Given the description of an element on the screen output the (x, y) to click on. 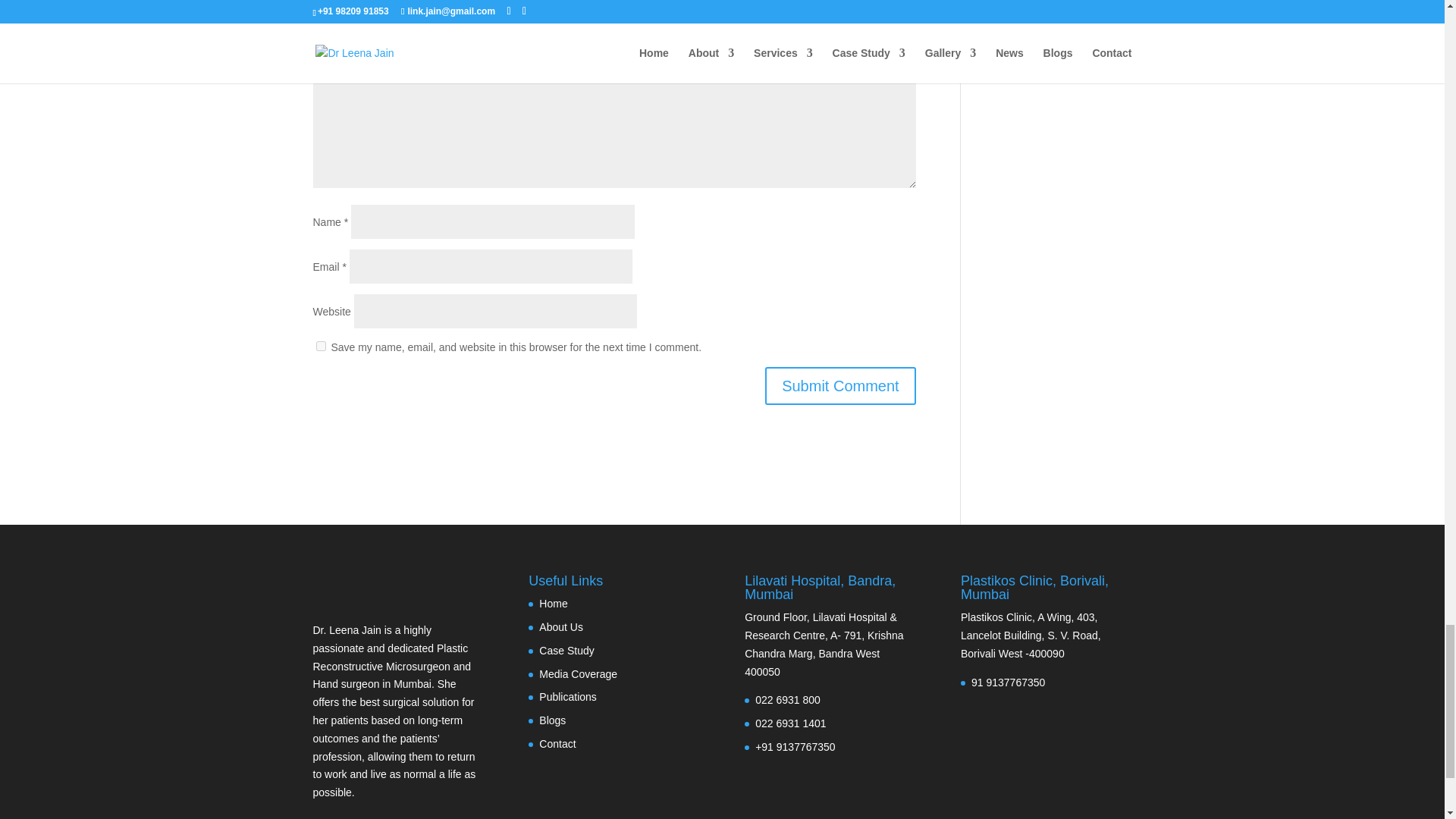
yes (319, 346)
Submit Comment (840, 385)
